Given the description of an element on the screen output the (x, y) to click on. 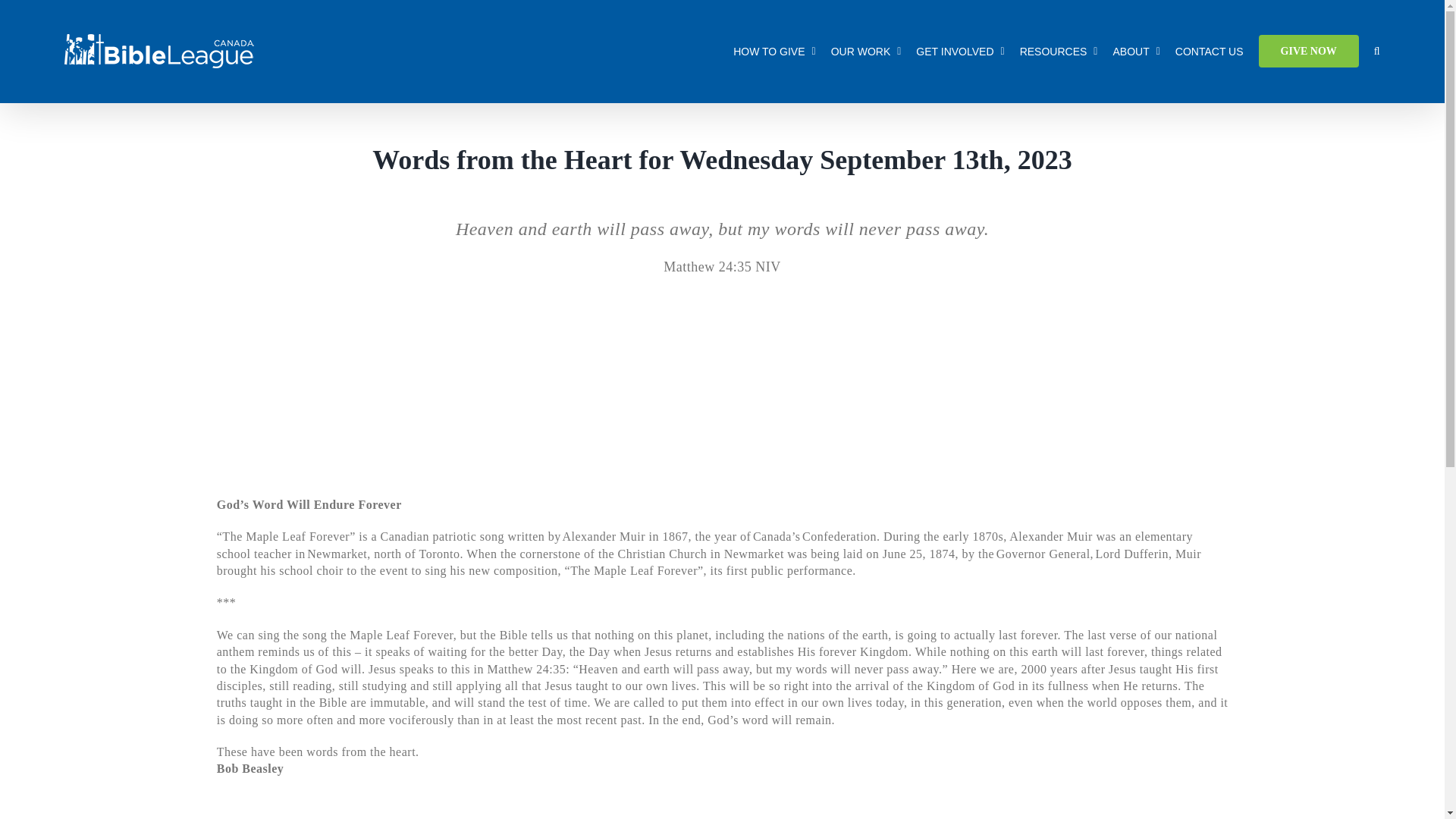
HOW TO GIVE (774, 50)
GET INVOLVED (959, 50)
RESOURCES (1058, 50)
GIVE NOW (1308, 50)
